Given the description of an element on the screen output the (x, y) to click on. 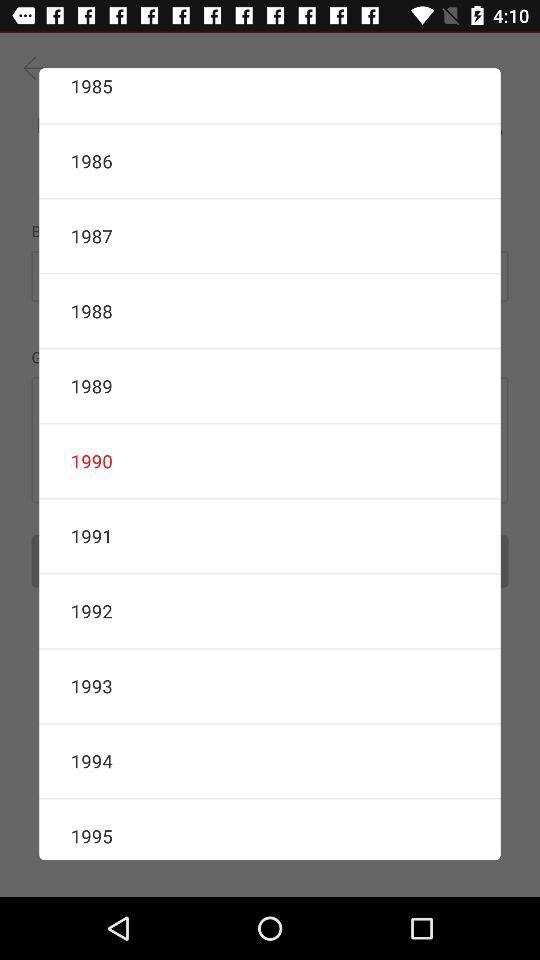
jump until the 1989 icon (269, 386)
